Given the description of an element on the screen output the (x, y) to click on. 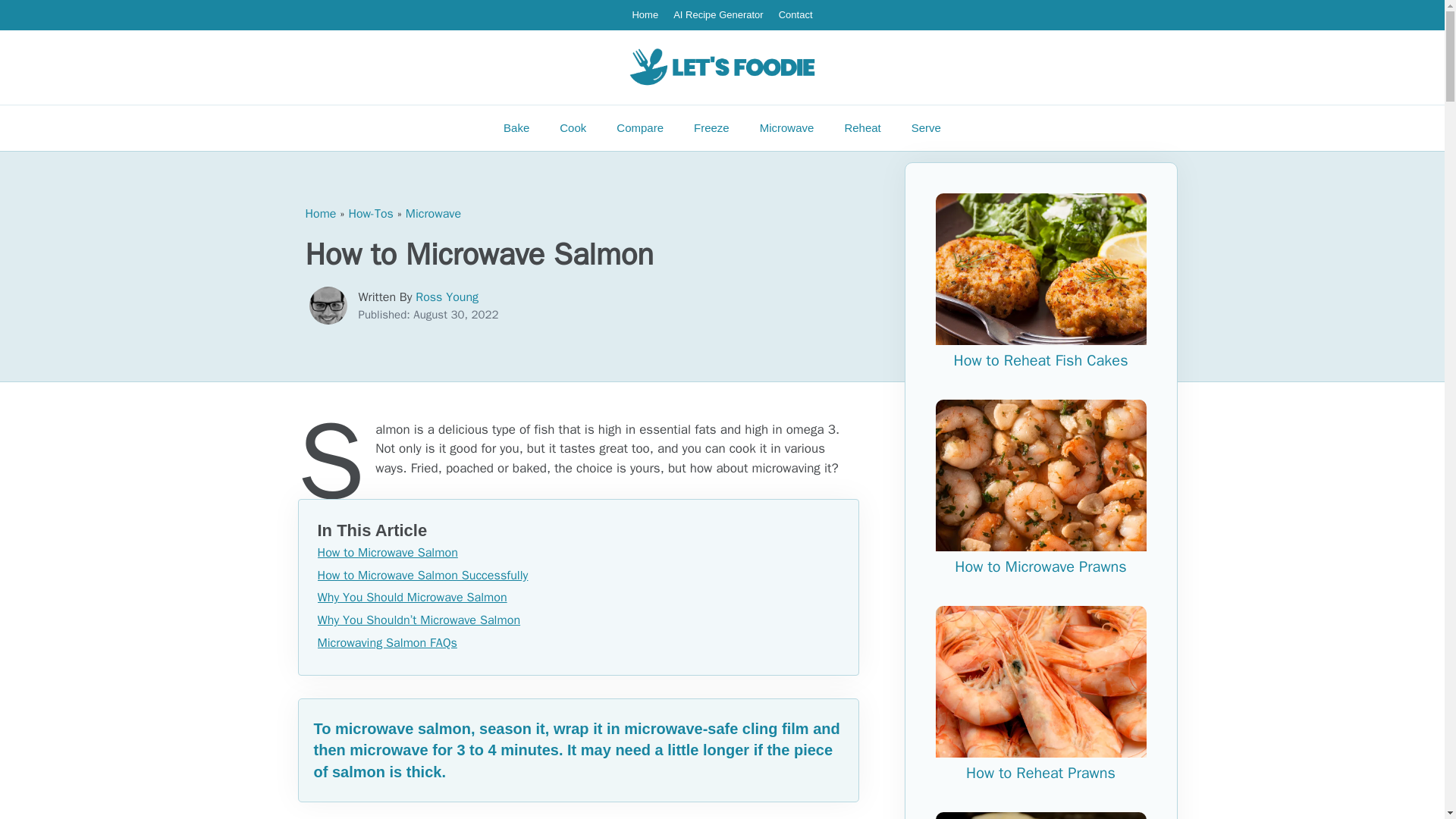
Microwaving Salmon FAQs (387, 643)
Ross Young (446, 296)
Compare (639, 127)
How to Microwave Salmon (387, 552)
Home (644, 14)
Microwave (786, 127)
How to Microwave Salmon Successfully (422, 575)
How to Microwave Salmon Successfully (422, 575)
Home (320, 213)
How-Tos (370, 213)
